Given the description of an element on the screen output the (x, y) to click on. 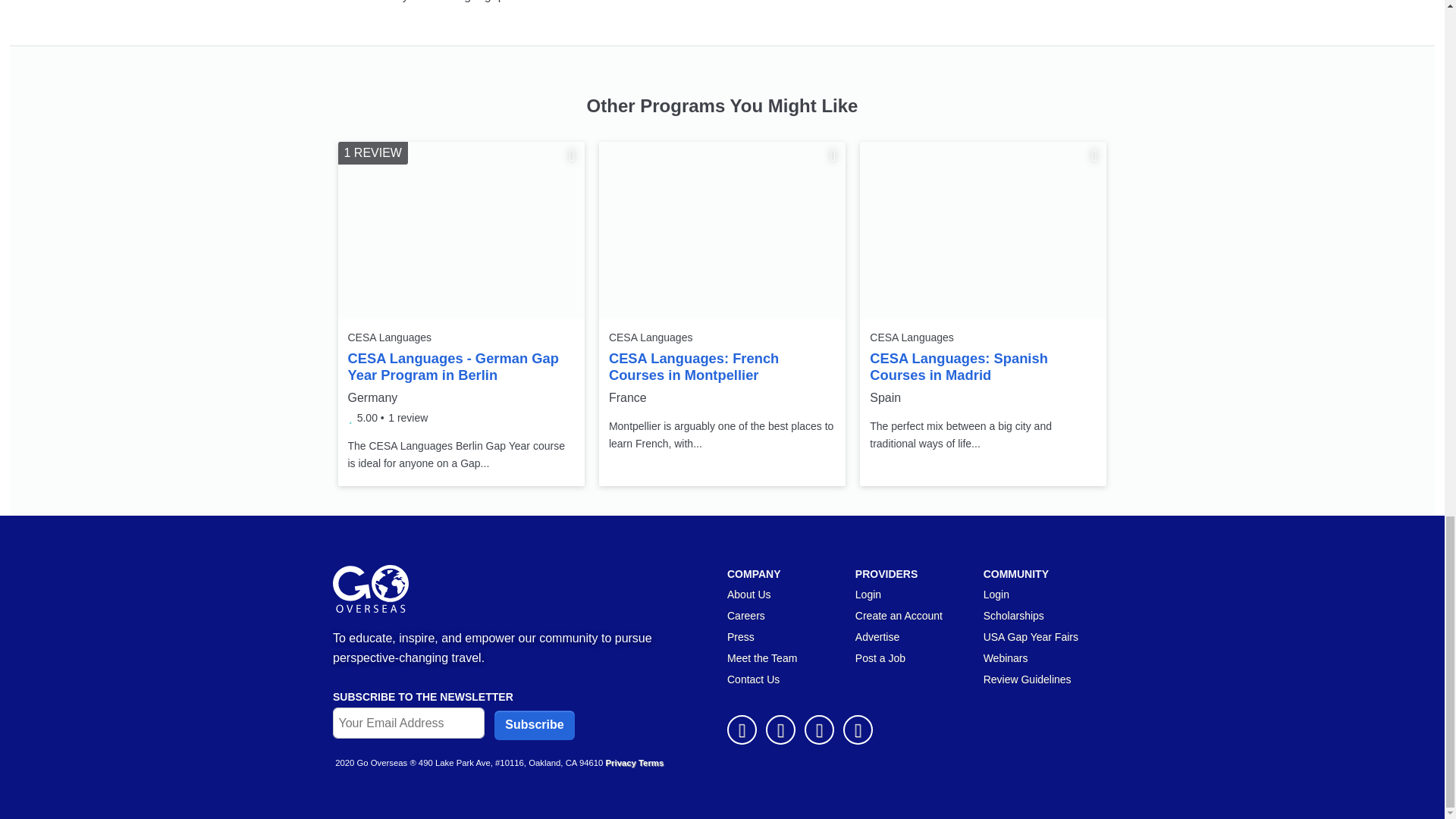
CESA Languages: Spanish Courses in Madrid (983, 230)
CESA Languages: French Courses in Montpellier (721, 230)
Subscribe (534, 725)
CESA Languages - German Gap Year Program in Berlin (461, 230)
